Given the description of an element on the screen output the (x, y) to click on. 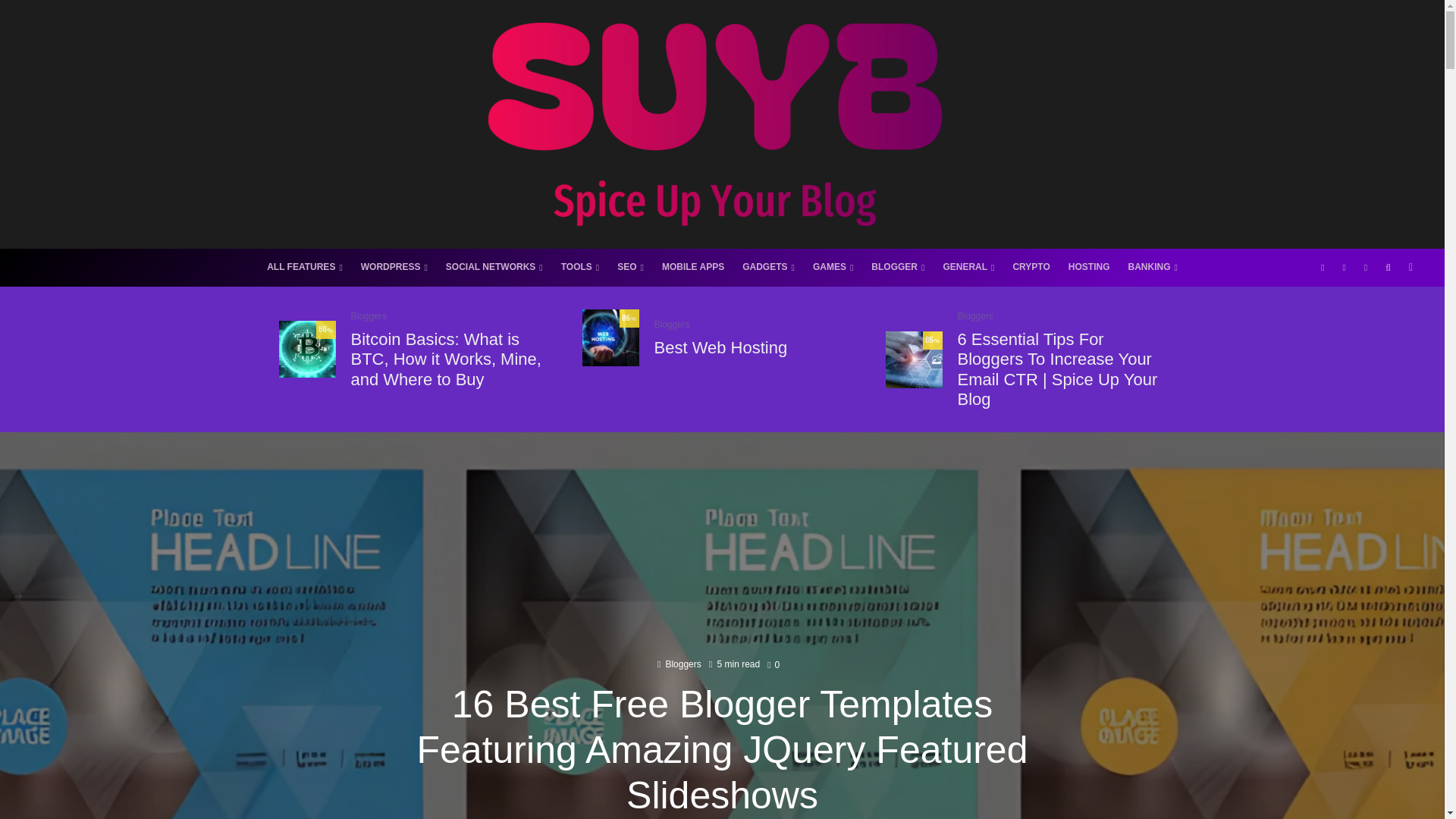
WORDPRESS (394, 267)
ALL FEATURES (304, 267)
SOCIAL NETWORKS (493, 267)
TOOLS (579, 267)
